Given the description of an element on the screen output the (x, y) to click on. 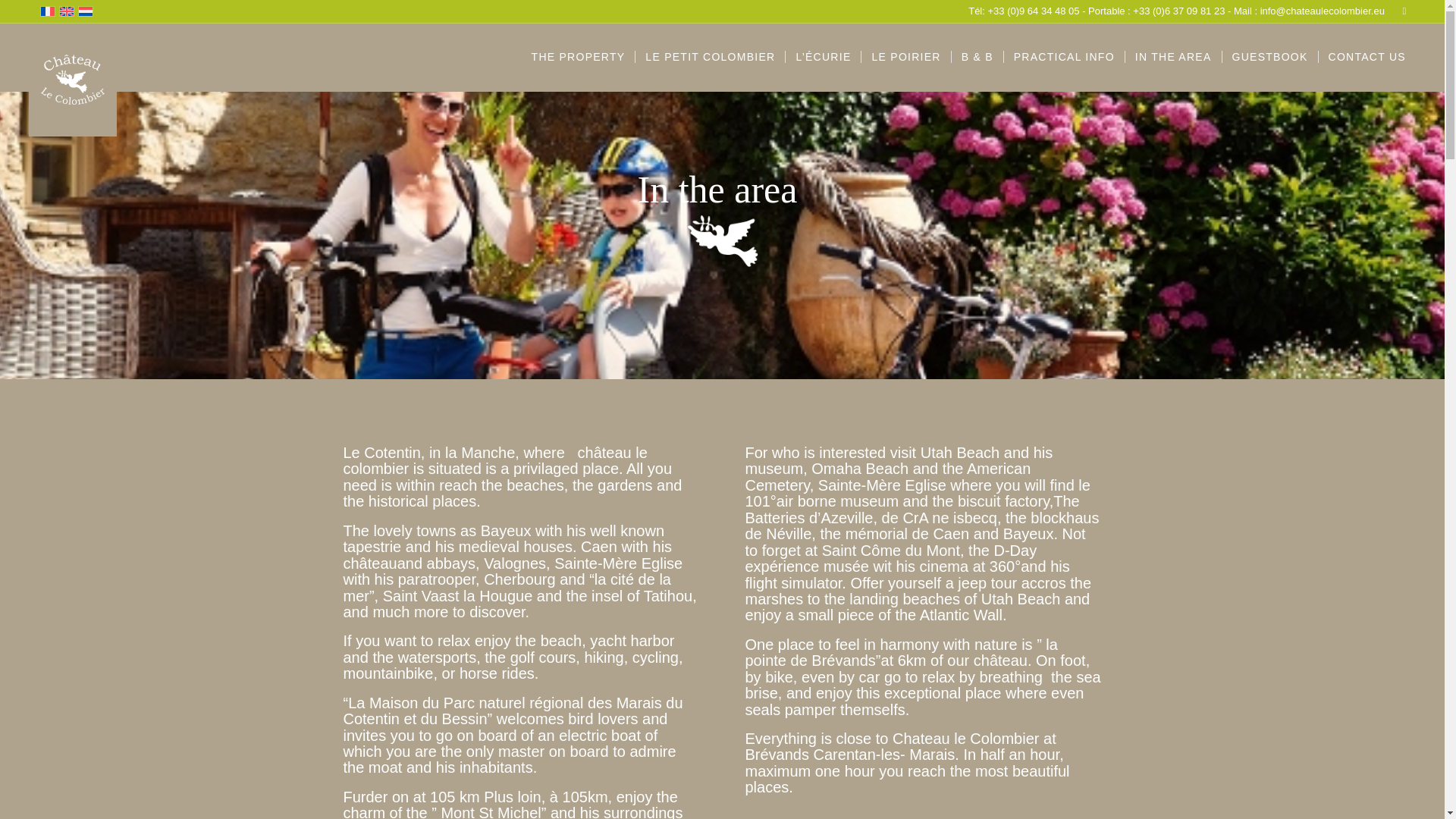
Facebook (1404, 11)
PRACTICAL INFO (1063, 56)
THE PROPERTY (577, 56)
CONTACT US (1366, 56)
LE POIRIER (905, 56)
Nederlands (85, 10)
GUESTBOOK (1269, 56)
English (66, 10)
IN THE AREA (1172, 56)
LE PETIT COLOMBIER (709, 56)
